Given the description of an element on the screen output the (x, y) to click on. 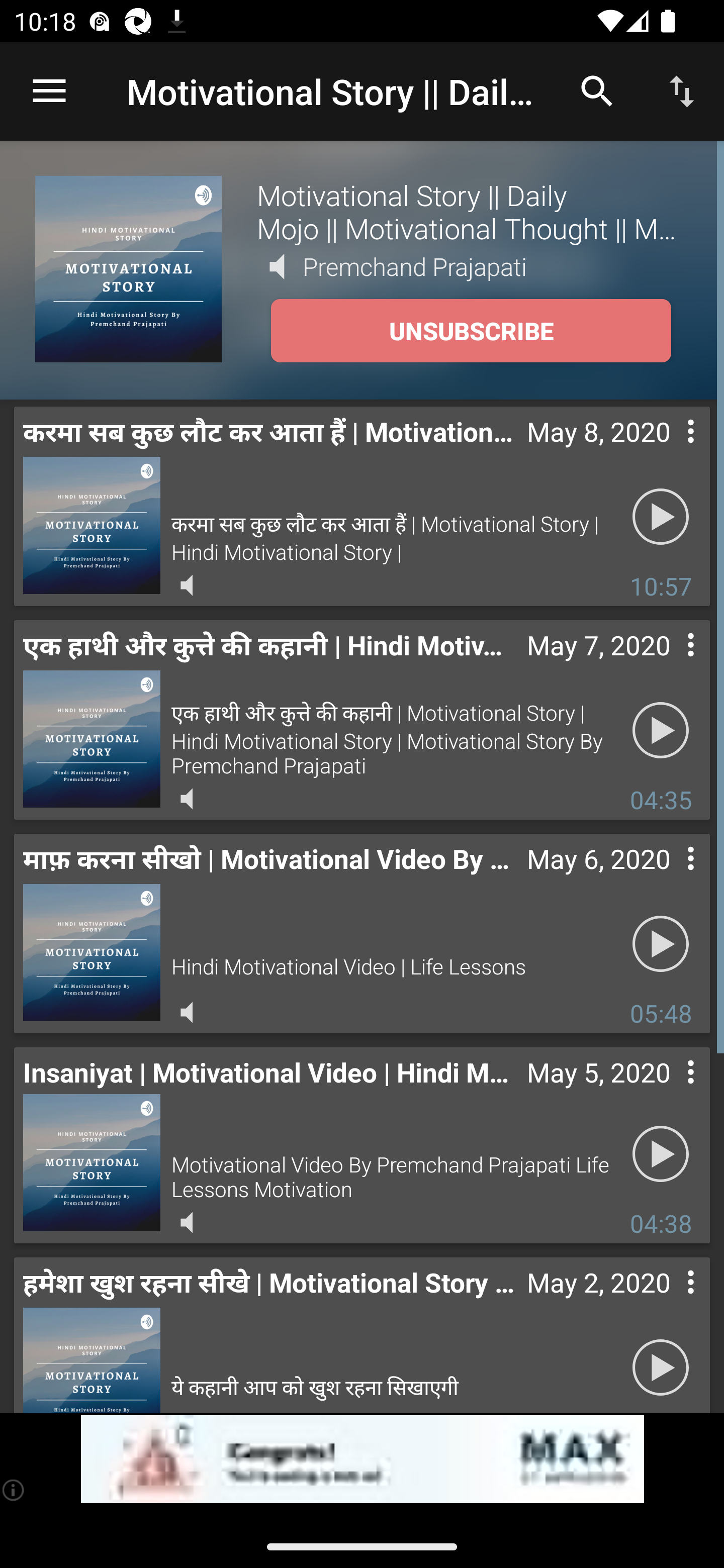
Open navigation sidebar (49, 91)
Search (597, 90)
Sort (681, 90)
UNSUBSCRIBE (470, 330)
Contextual menu (668, 451)
Play (660, 516)
Contextual menu (668, 665)
Play (660, 729)
Contextual menu (668, 878)
Play (660, 943)
Contextual menu (668, 1091)
Play (660, 1152)
Contextual menu (668, 1301)
Play (660, 1365)
app-monetization (362, 1459)
(i) (14, 1489)
